Given the description of an element on the screen output the (x, y) to click on. 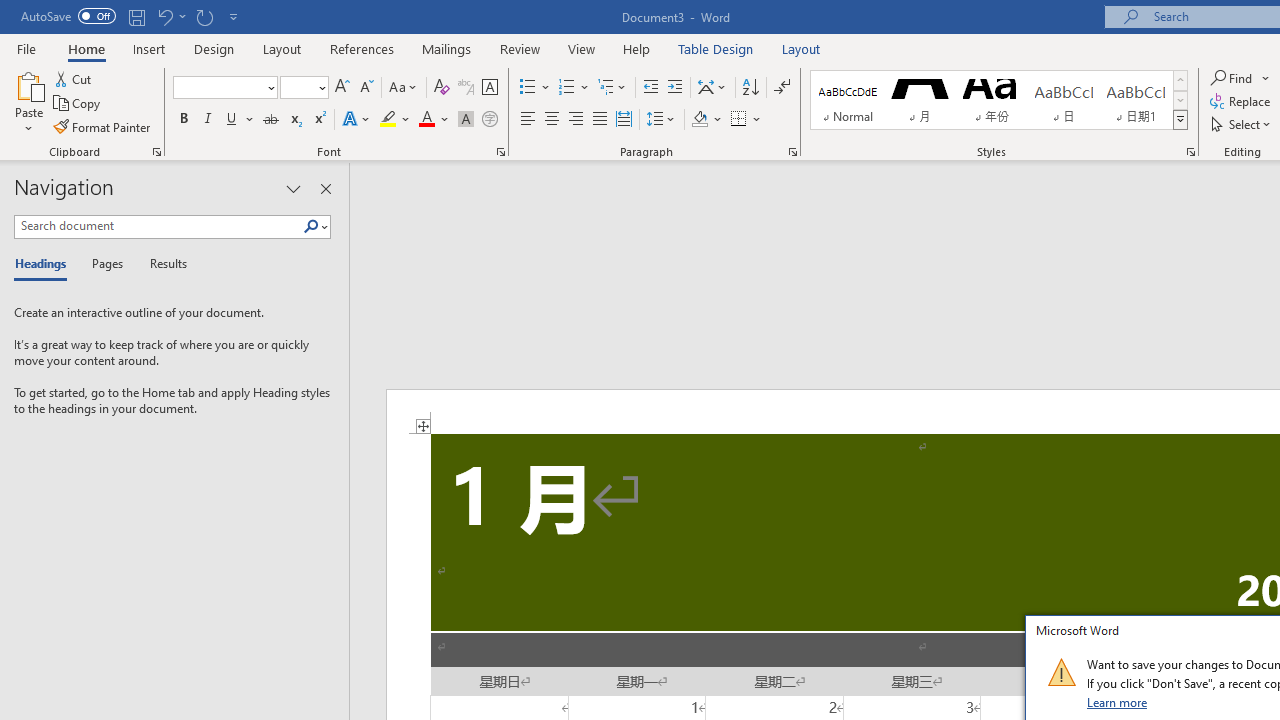
Character Shading (465, 119)
Undo Distribute Para (170, 15)
Decrease Indent (650, 87)
Copy (78, 103)
Font Color RGB(255, 0, 0) (426, 119)
